Given the description of an element on the screen output the (x, y) to click on. 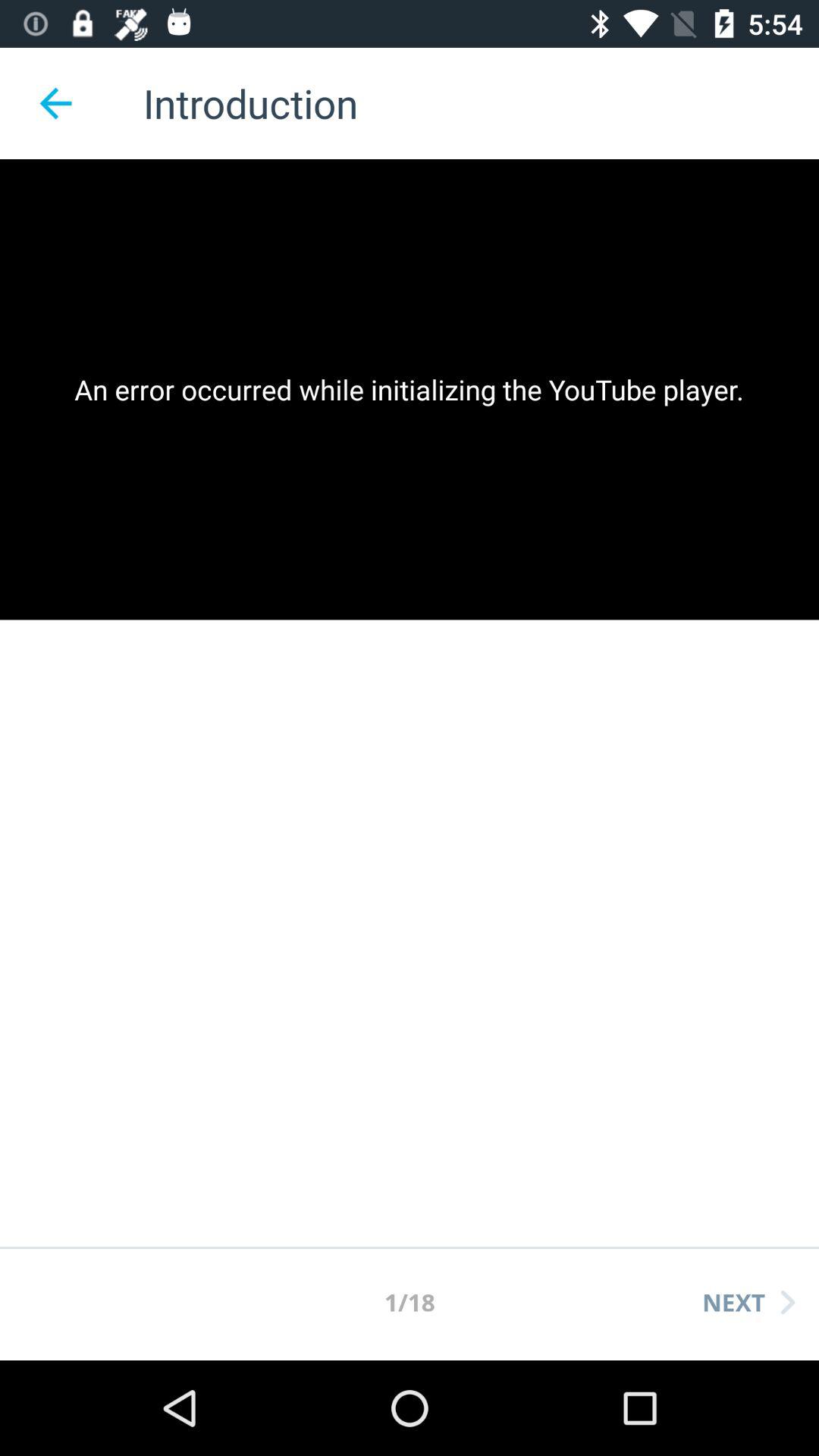
tap icon to the left of introduction icon (55, 103)
